Given the description of an element on the screen output the (x, y) to click on. 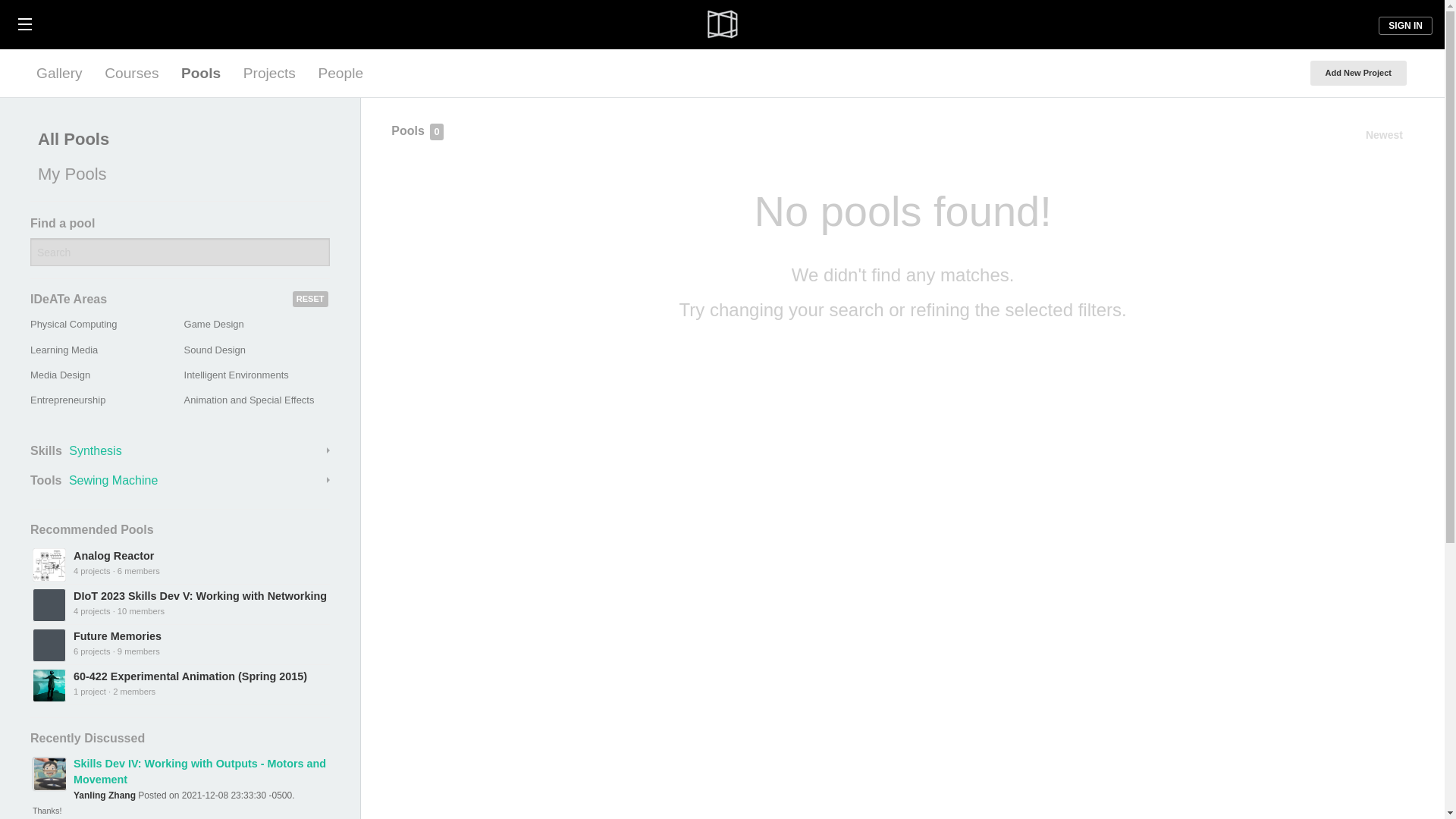
Skills Synthesis (180, 451)
Animation and Special Effects (249, 399)
Game Design (214, 324)
Courses (131, 73)
Physical Computing (73, 324)
All Pools (175, 139)
Entrepreneurship (67, 399)
Intelligent Environments (236, 374)
RESET (310, 299)
Sound Design (215, 349)
Learning Media (63, 349)
Media Design (60, 374)
My Pools (175, 174)
SIGN IN (1405, 25)
Add New Project (1358, 72)
